Given the description of an element on the screen output the (x, y) to click on. 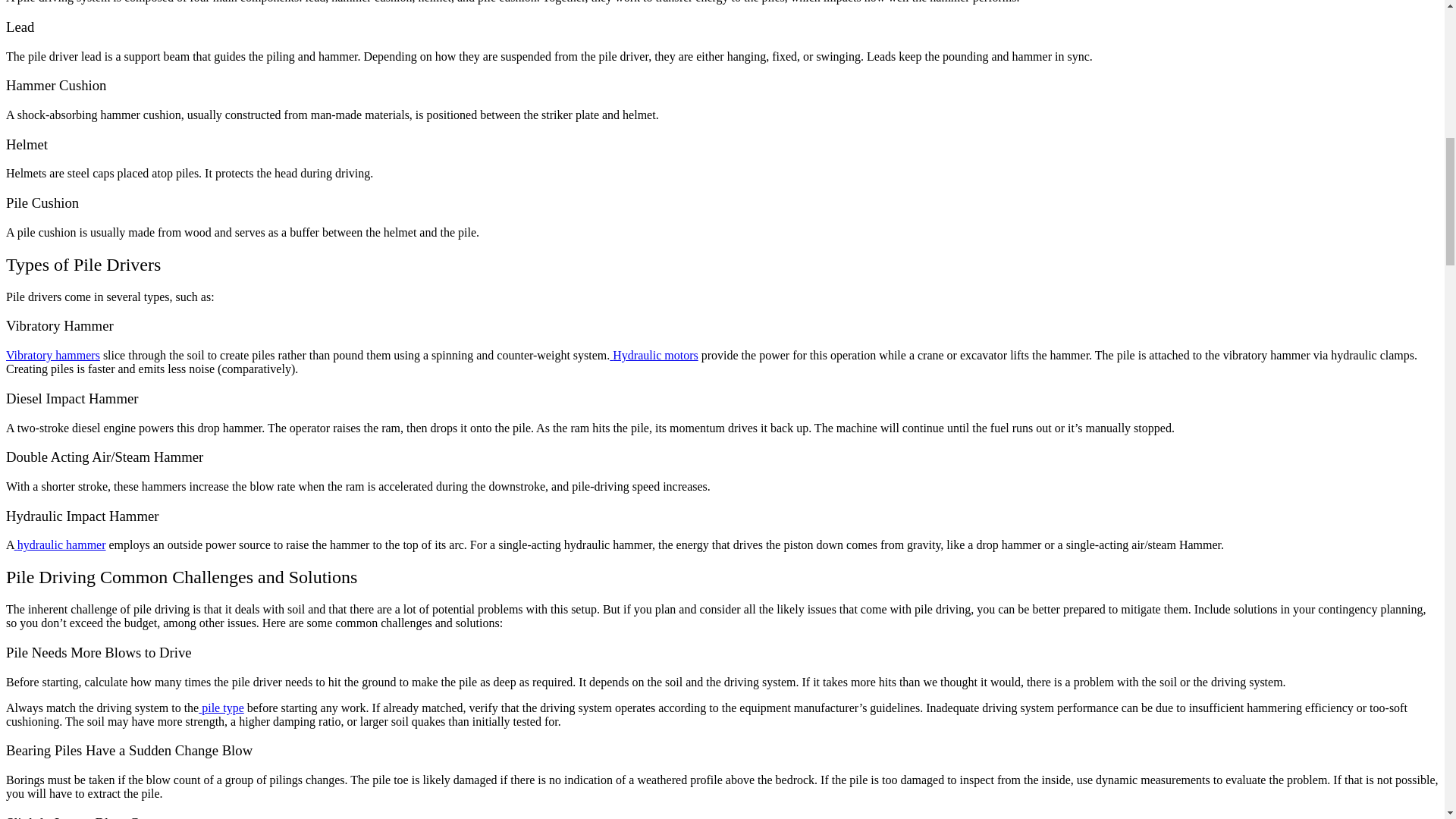
hydraulic hammer (60, 544)
Hydraulic motors (653, 354)
Vibratory hammers (52, 354)
pile type (221, 707)
